Given the description of an element on the screen output the (x, y) to click on. 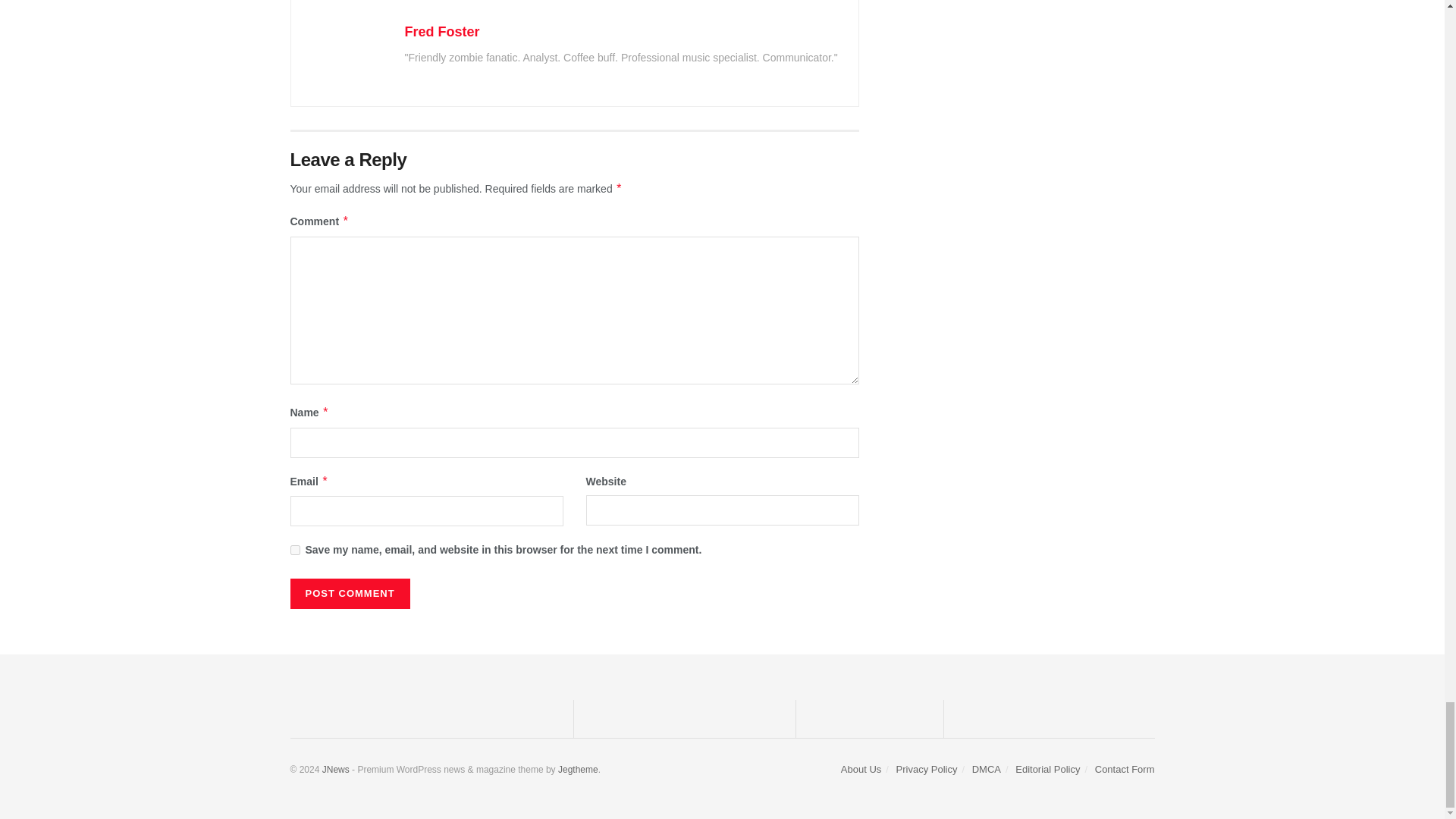
Post Comment (349, 593)
Jegtheme (577, 769)
yes (294, 550)
